Given the description of an element on the screen output the (x, y) to click on. 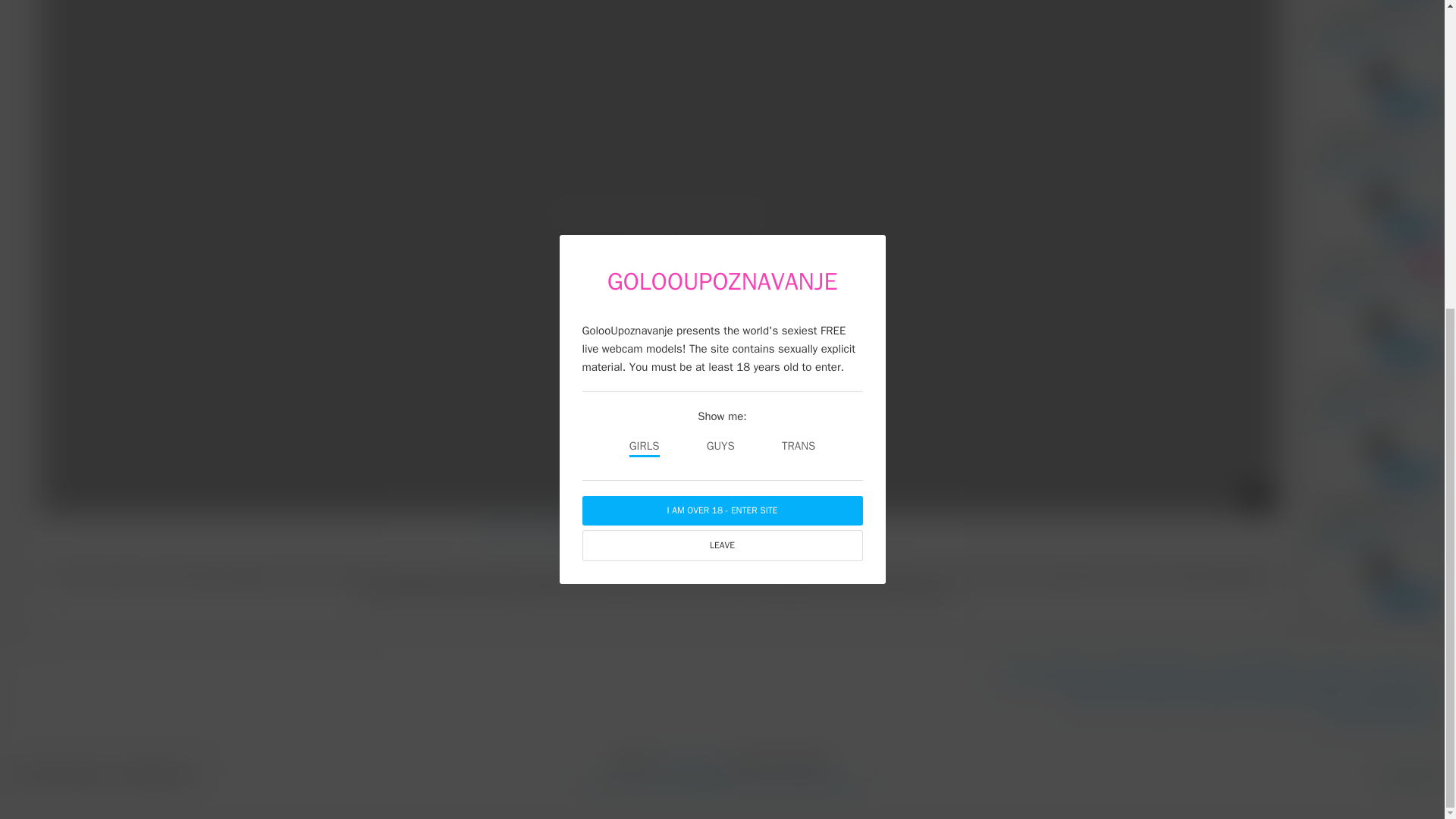
PRIVACY POLICY (1396, 694)
LABS (1077, 694)
Michell Angels (638, 529)
BLOG (1117, 694)
SUPPORT (1337, 673)
Cam girls (560, 529)
CONTACT US (1405, 673)
BECOME A MODEL (1154, 673)
REPORT CONTENT (1297, 694)
PRESS (1158, 694)
